Given the description of an element on the screen output the (x, y) to click on. 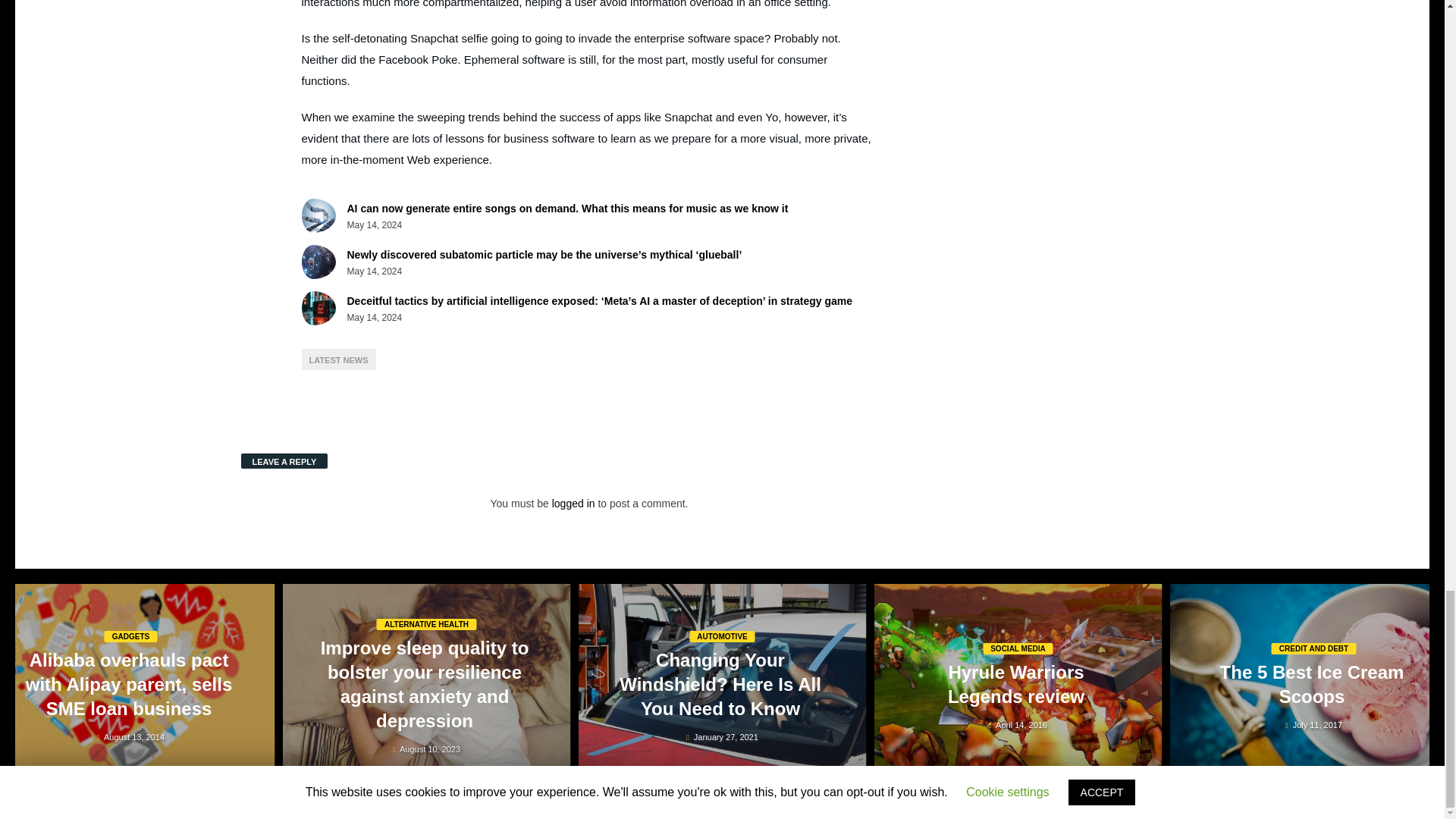
LATEST NEWS (338, 359)
logged in (573, 503)
